Given the description of an element on the screen output the (x, y) to click on. 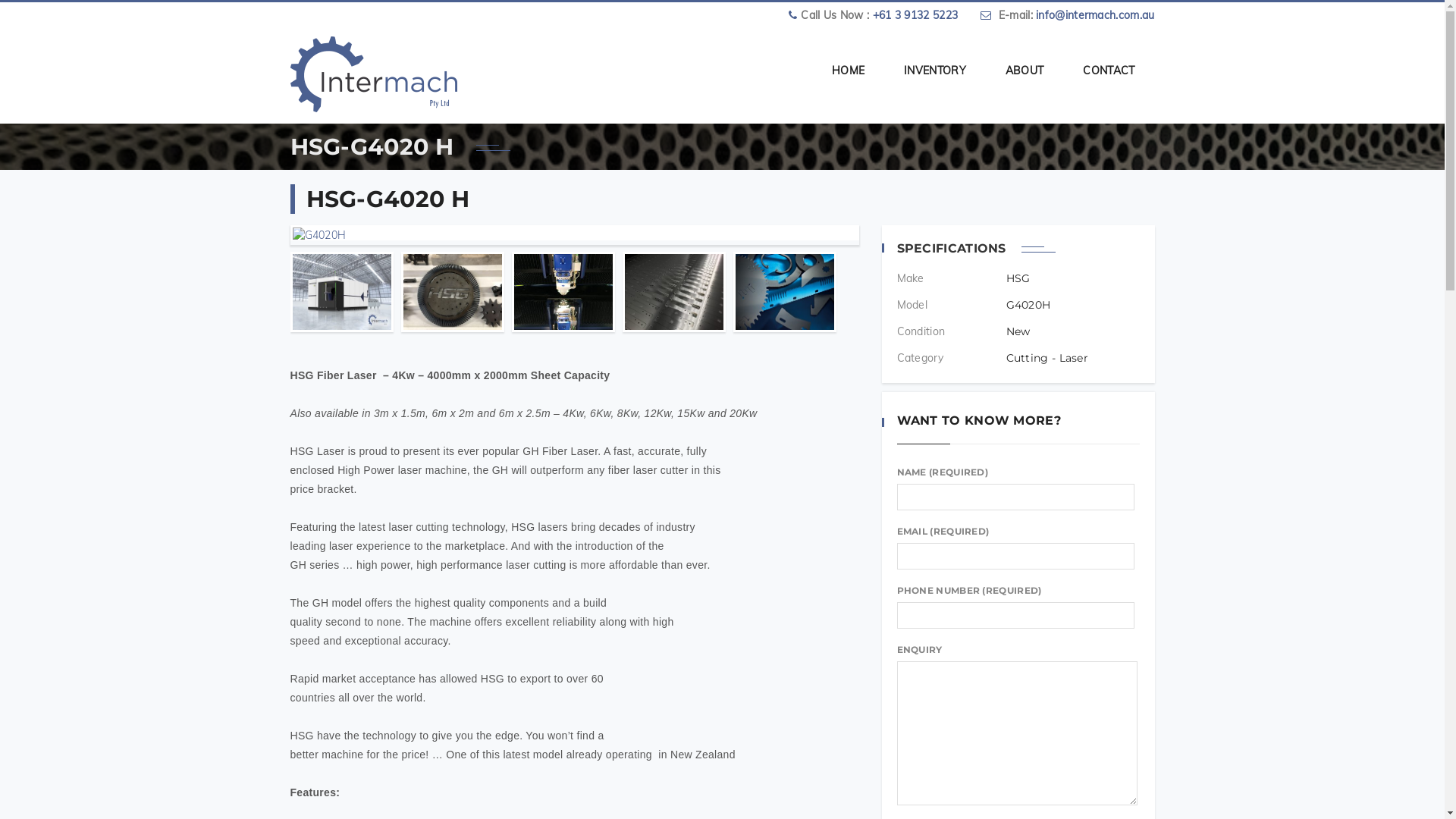
+61 3 9132 5223 Element type: text (915, 14)
info@intermach.com.au Element type: text (1094, 14)
Intermach Element type: hover (372, 70)
CONTACT Element type: text (1108, 67)
INVENTORY Element type: text (934, 67)
HOME Element type: text (848, 67)
ABOUT Element type: text (1024, 67)
